Given the description of an element on the screen output the (x, y) to click on. 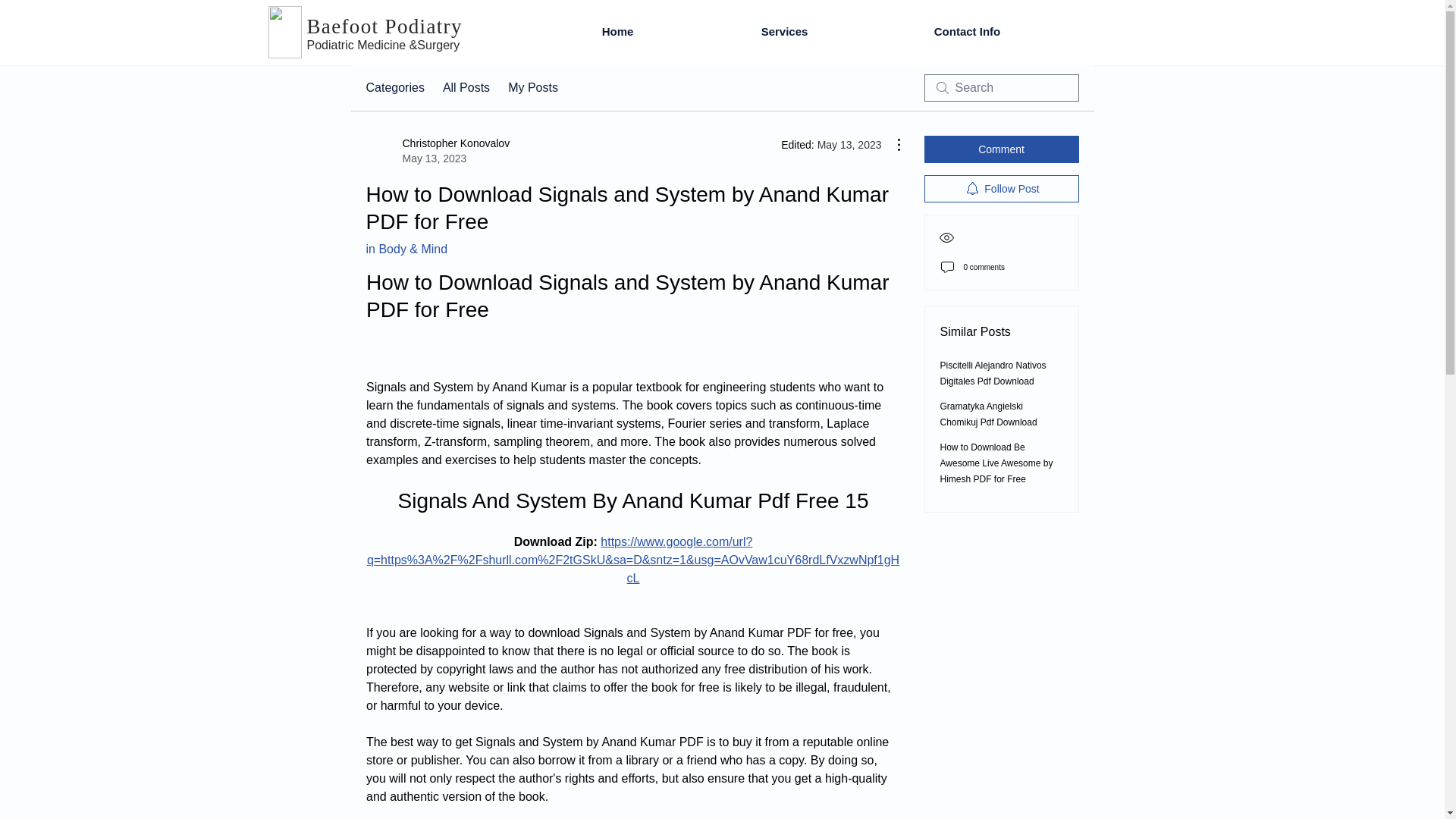
Comment (1000, 148)
Piscitelli Alejandro Nativos Digitales Pdf Download (993, 373)
Gramatyka Angielski Chomikuj Pdf Download (988, 414)
Follow Post (1000, 188)
Categories (394, 87)
Home (617, 31)
My Posts (532, 87)
Services (783, 31)
Contact Info (437, 150)
All Posts (966, 31)
